Given the description of an element on the screen output the (x, y) to click on. 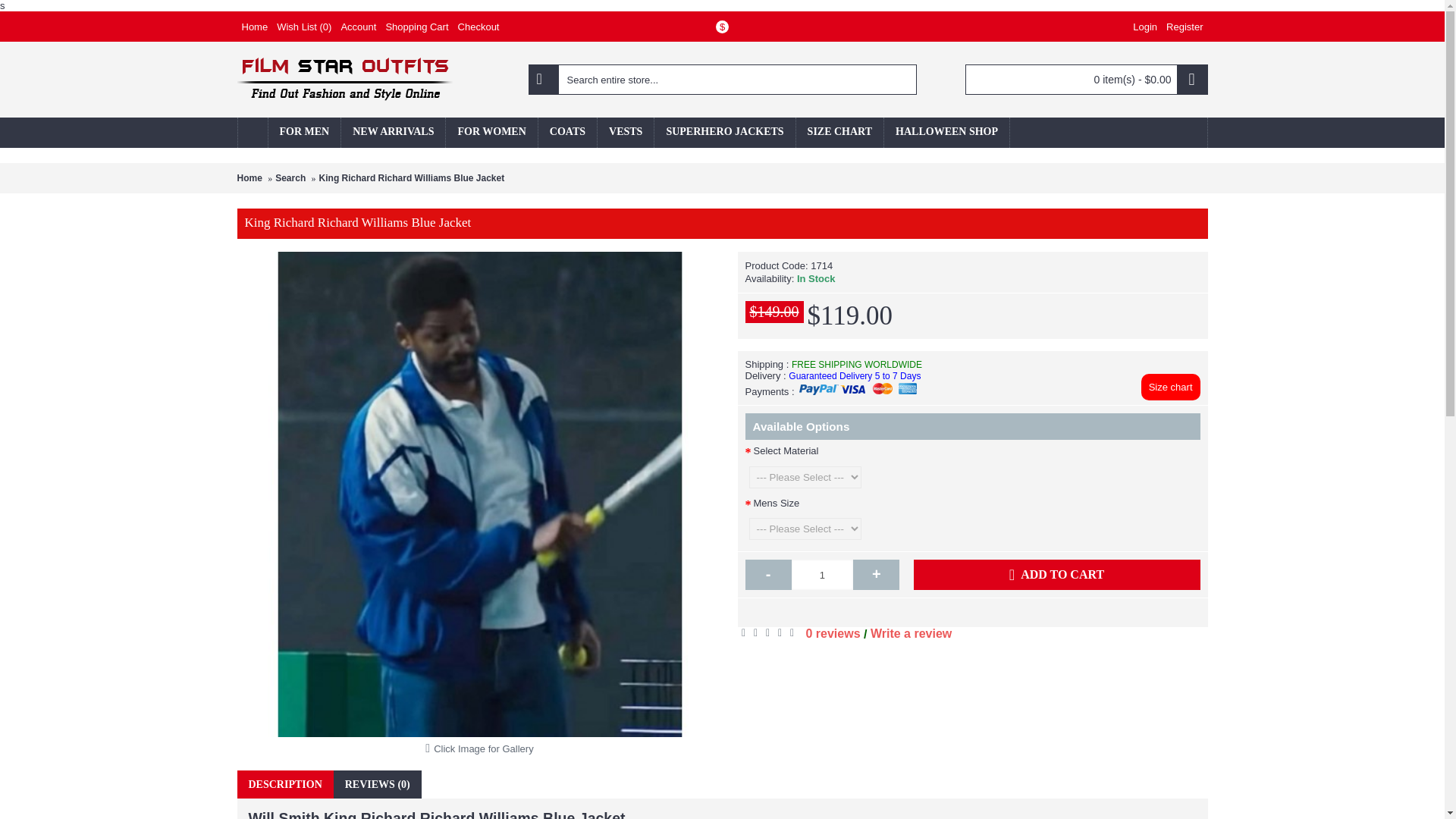
Opens a widget where you can chat to one of our agents (1386, 792)
1 (822, 574)
Register (1184, 26)
Login (1144, 26)
FOR MEN (303, 132)
Shopping Cart (416, 26)
Checkout (477, 26)
Account (358, 26)
Home (253, 26)
Film Star Outfits (343, 79)
